Given the description of an element on the screen output the (x, y) to click on. 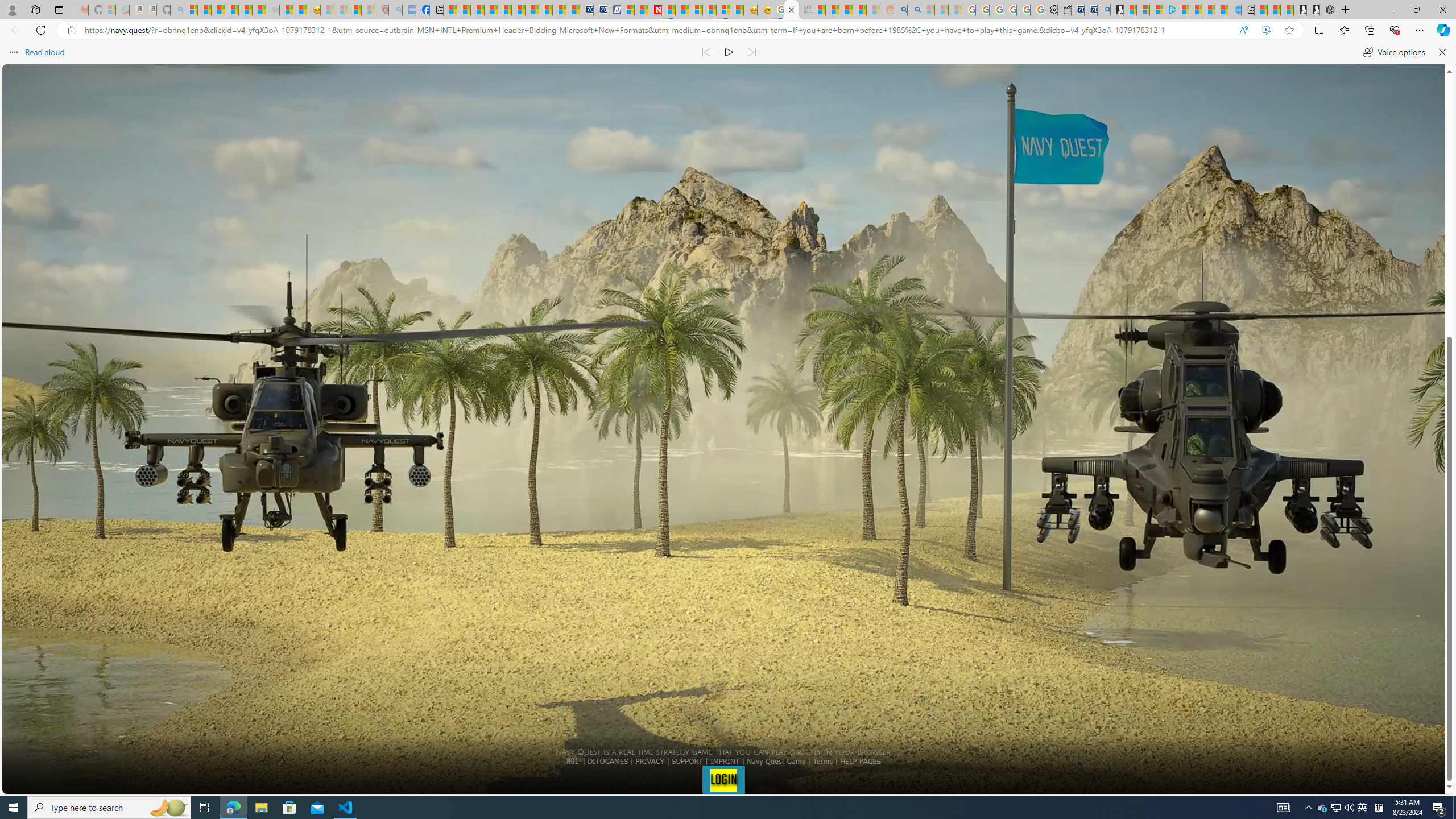
LOGIN (723, 778)
12 Popular Science Lies that Must be Corrected - Sleeping (368, 9)
Climate Damage Becomes Too Severe To Reverse (490, 9)
